Given the description of an element on the screen output the (x, y) to click on. 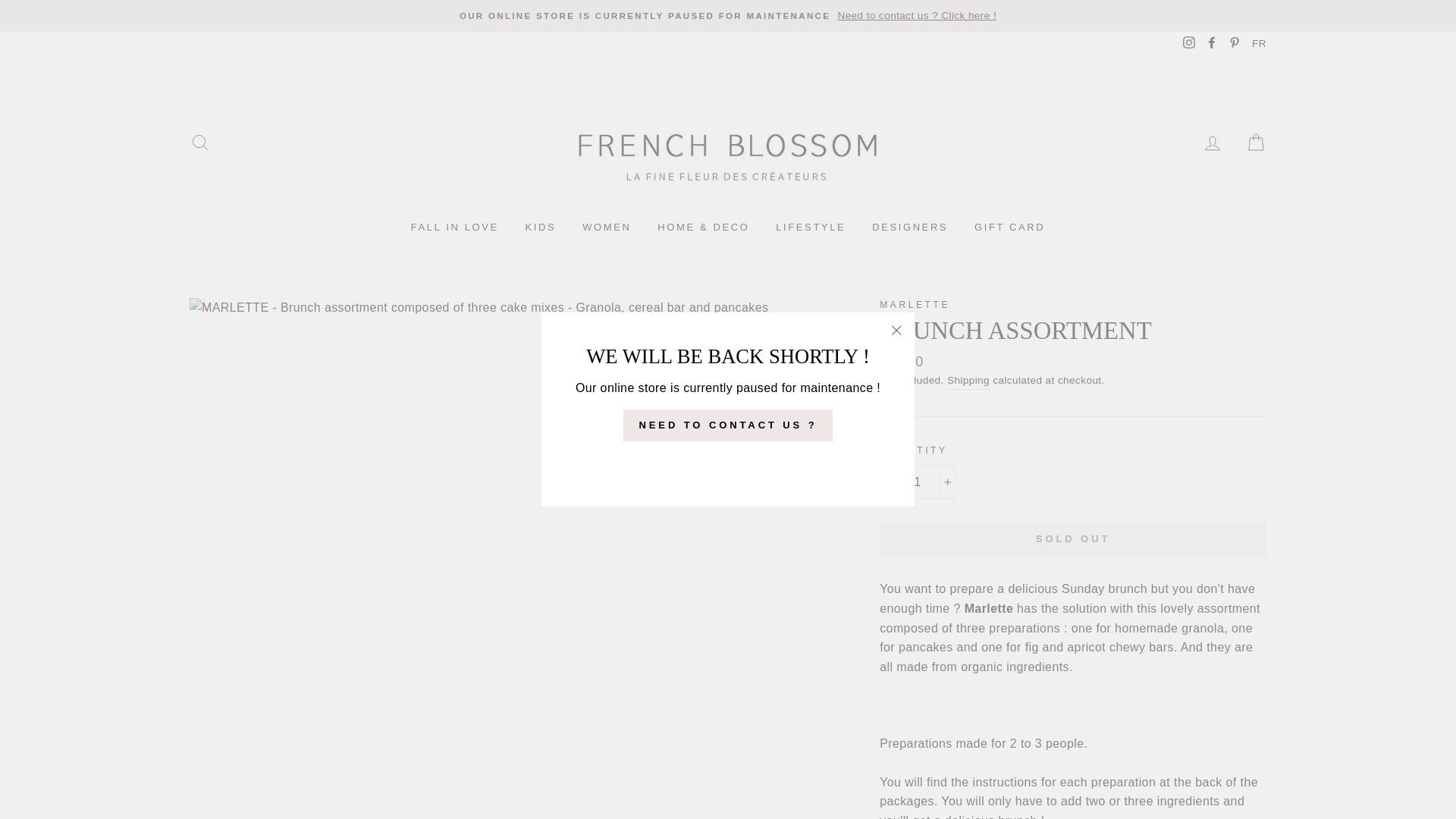
1 (917, 482)
